Given the description of an element on the screen output the (x, y) to click on. 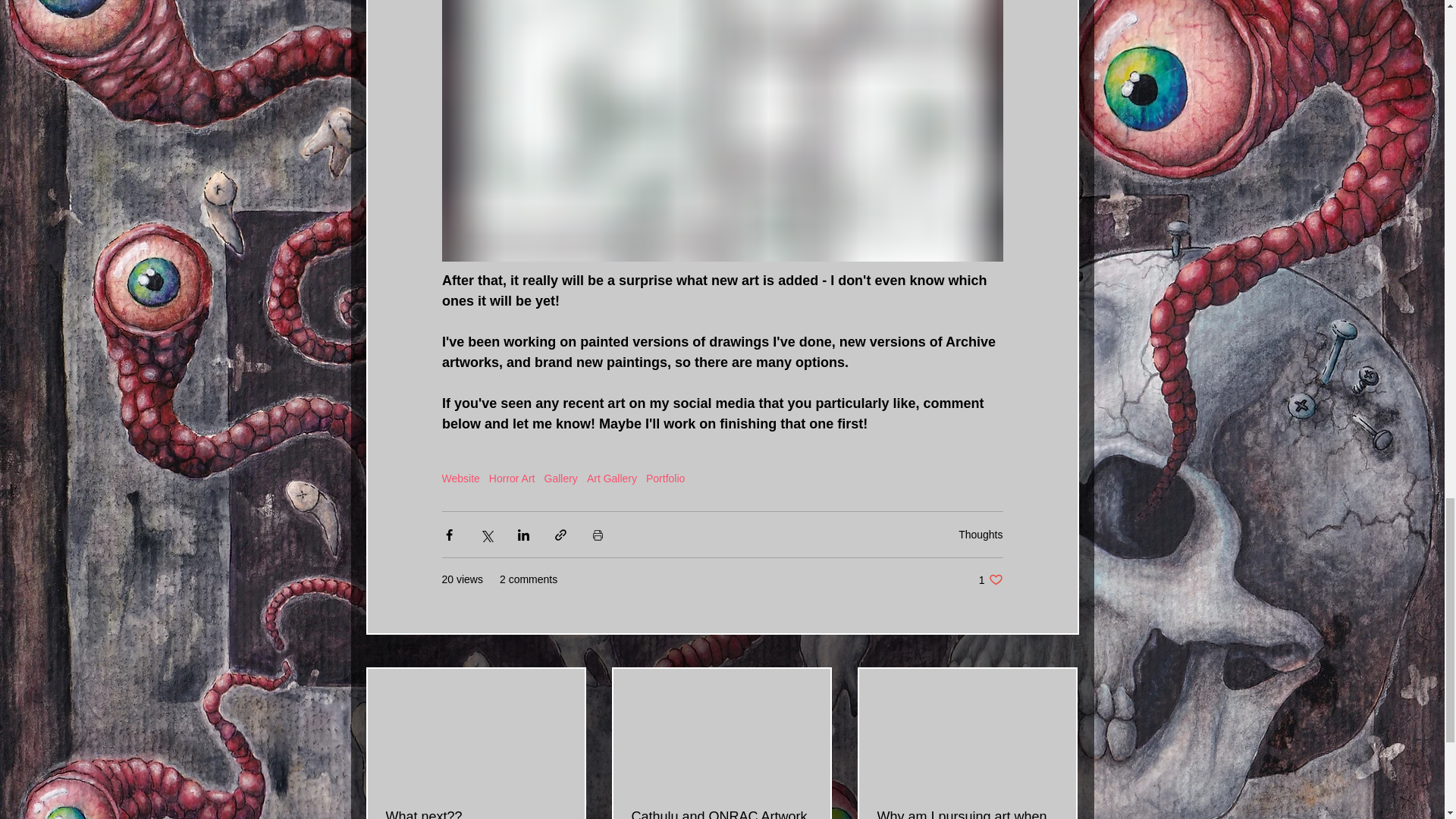
Art Gallery (990, 579)
Thoughts (611, 478)
Website (980, 534)
Gallery (460, 478)
Horror Art (561, 478)
Portfolio (512, 478)
